Given the description of an element on the screen output the (x, y) to click on. 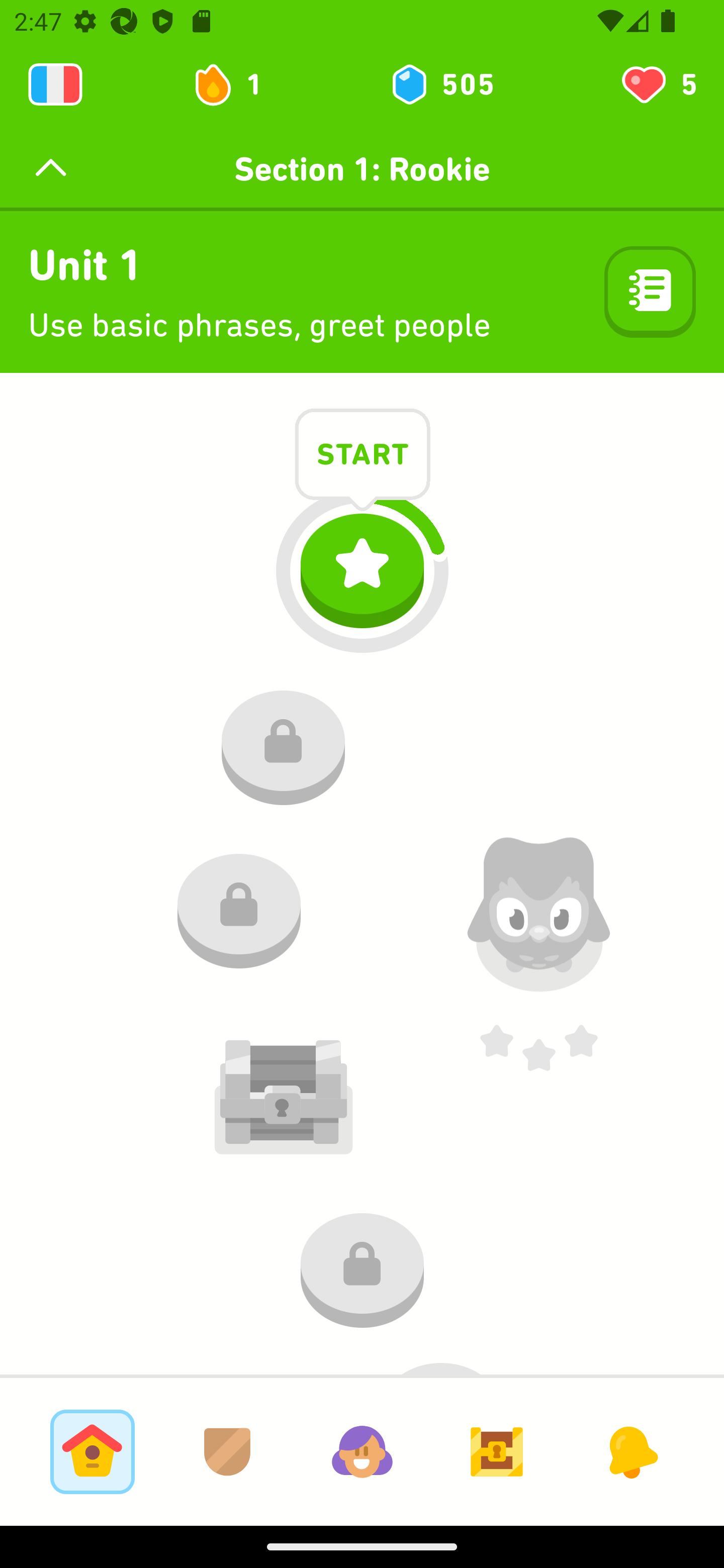
Learning 2131888976 (55, 84)
1 day streak 1 (236, 84)
505 (441, 84)
You have 5 hearts left 5 (657, 84)
Section 1: Rookie (362, 169)
START (362, 457)
Learn Tab (91, 1451)
Leagues Tab (227, 1451)
Profile Tab (361, 1451)
Goals Tab (496, 1451)
News Tab (631, 1451)
